Given the description of an element on the screen output the (x, y) to click on. 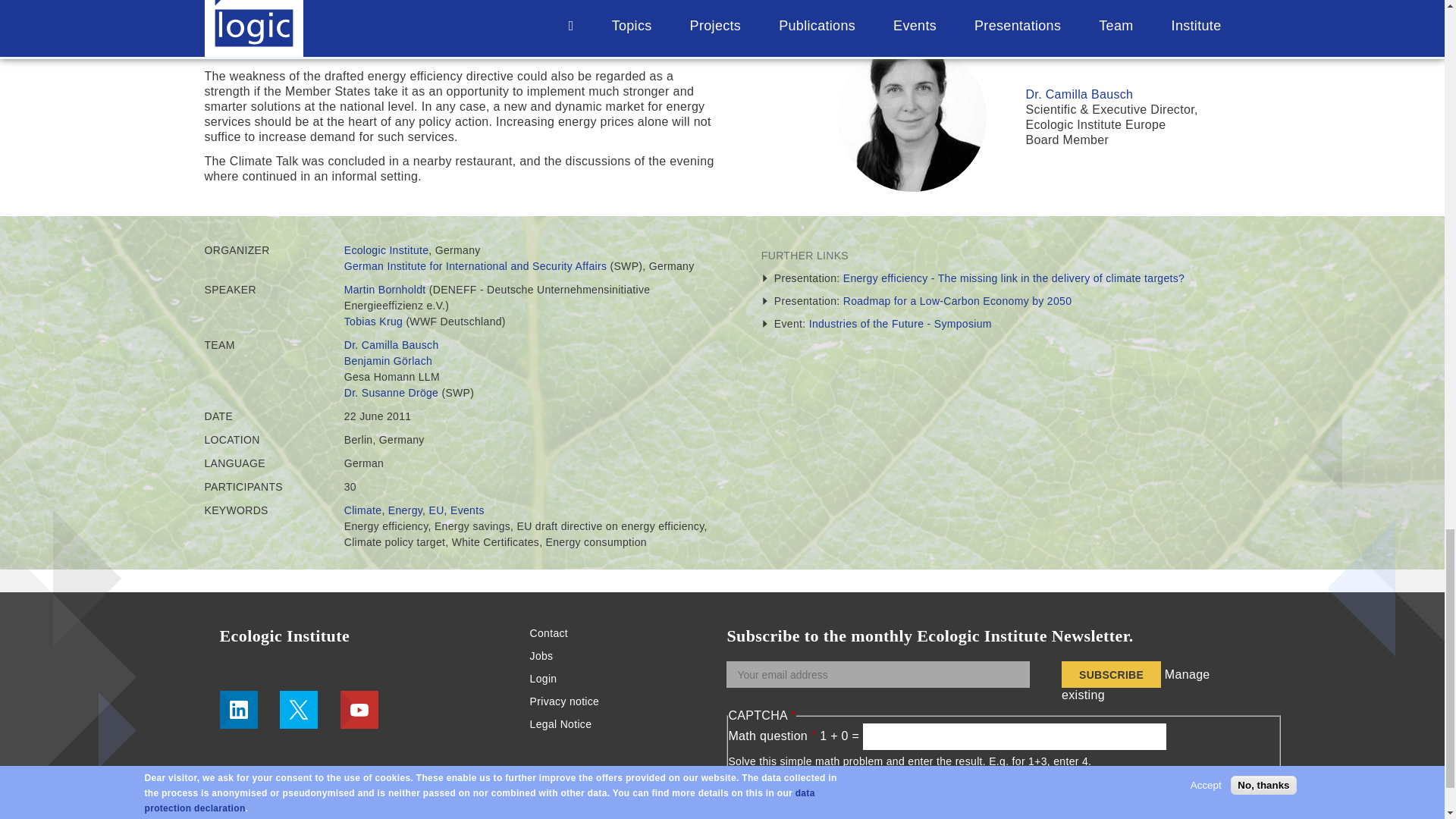
Subscribe (1110, 673)
Visit us on Youtube! (359, 709)
Visit us on LinkedIn! (238, 709)
Visit us on Twitter! (298, 709)
